Given the description of an element on the screen output the (x, y) to click on. 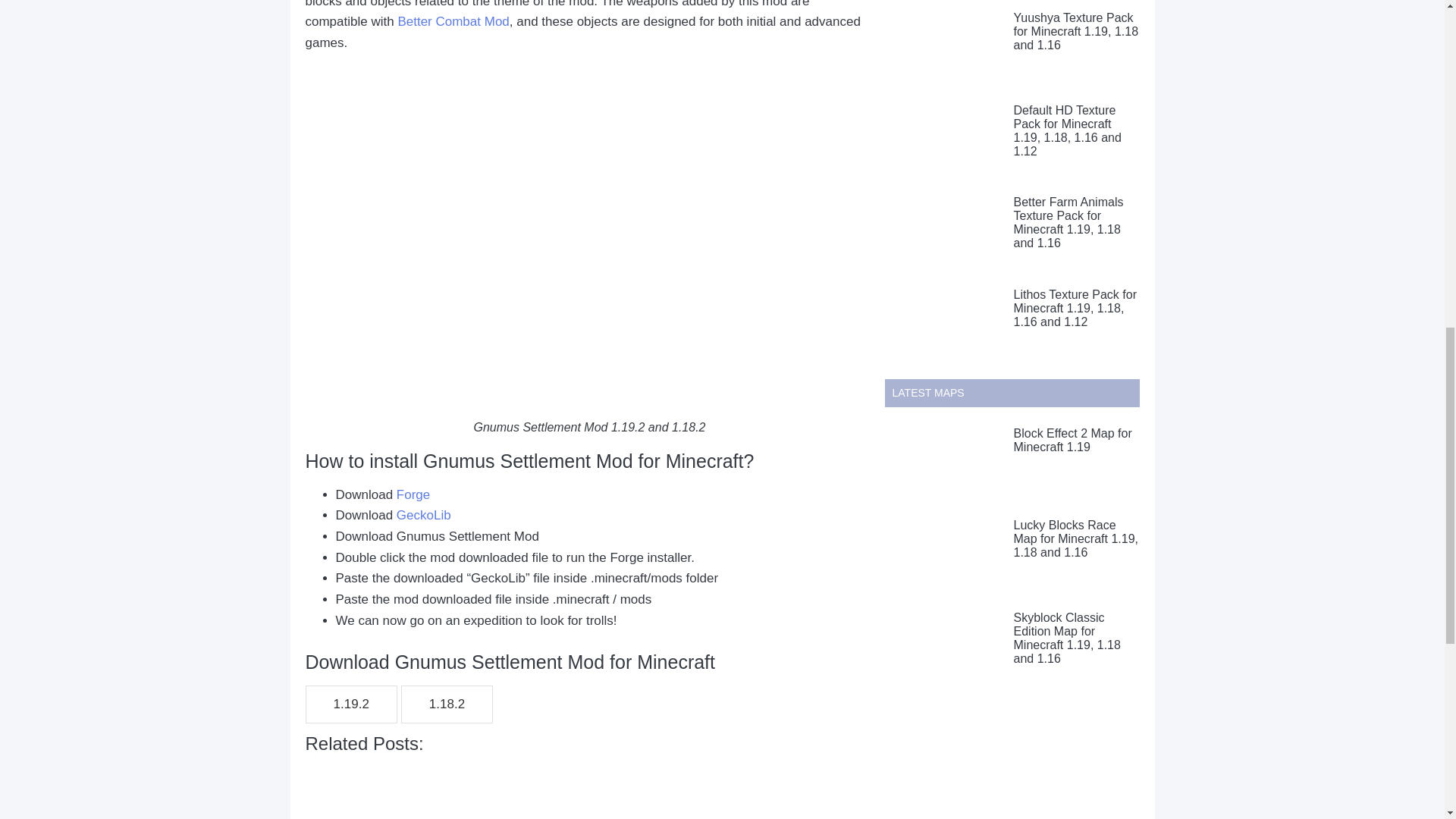
Ruins Mod for Minecraft 1.15.2, 1.14.4 and 1.12.2 (780, 787)
Forge (412, 494)
GeckoLib (423, 514)
Bonfires Mod for Minecraft 1.19.2, 1.18.2, 1.16.5 and 1.12.2 (397, 788)
1.18.2 (447, 704)
Better Combat Mod (452, 21)
Lithos Texture Pack for Minecraft 1.19, 1.18, 1.16 and 1.12 (1074, 308)
1.19.2 (350, 704)
